Given the description of an element on the screen output the (x, y) to click on. 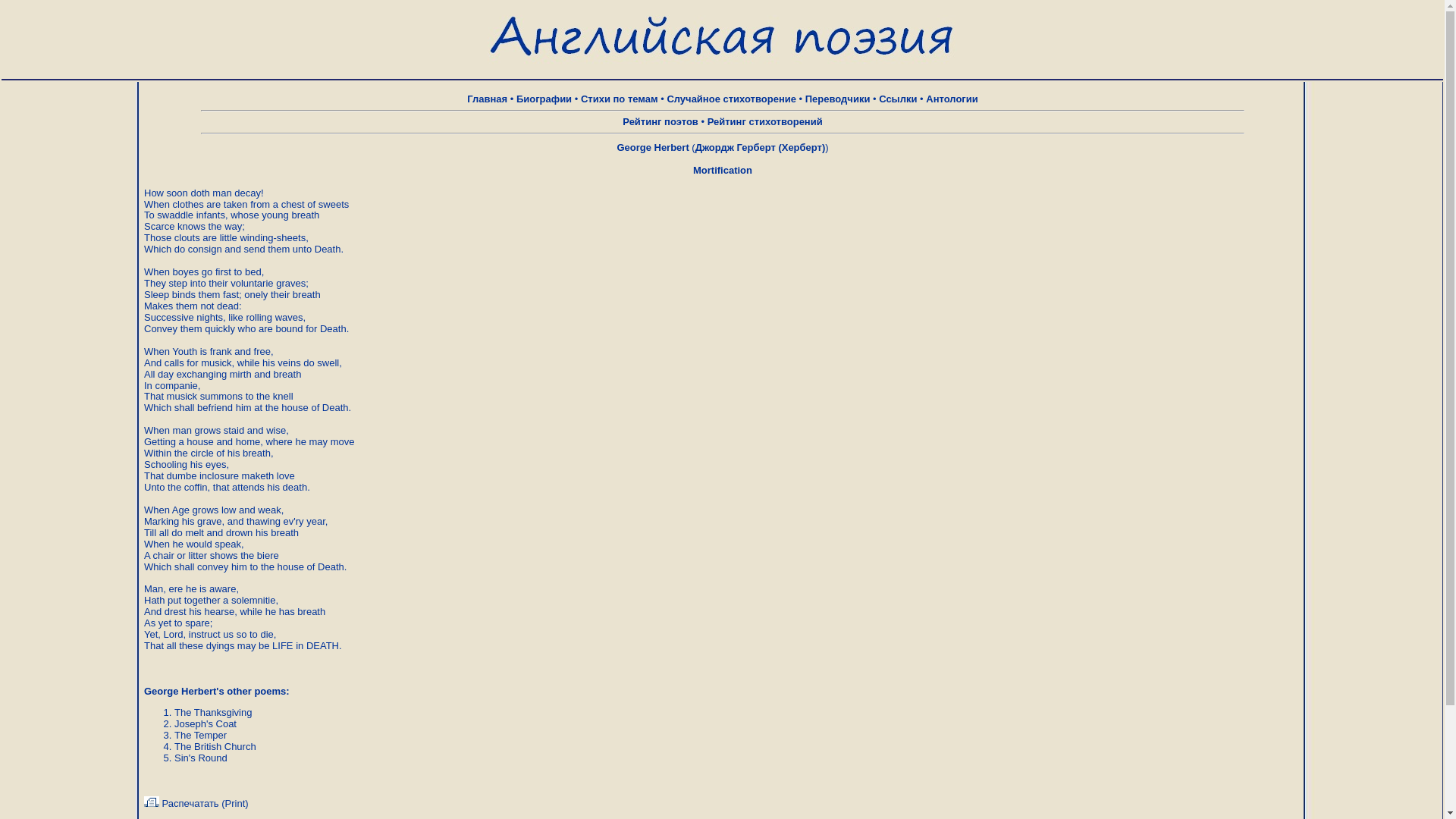
Sin's Round (200, 757)
George  Herbert. Poems (651, 147)
George Herbert (651, 147)
The British Church (215, 746)
Joseph's Coat (204, 723)
The Temper (200, 735)
The Thanksgiving (212, 712)
